Given the description of an element on the screen output the (x, y) to click on. 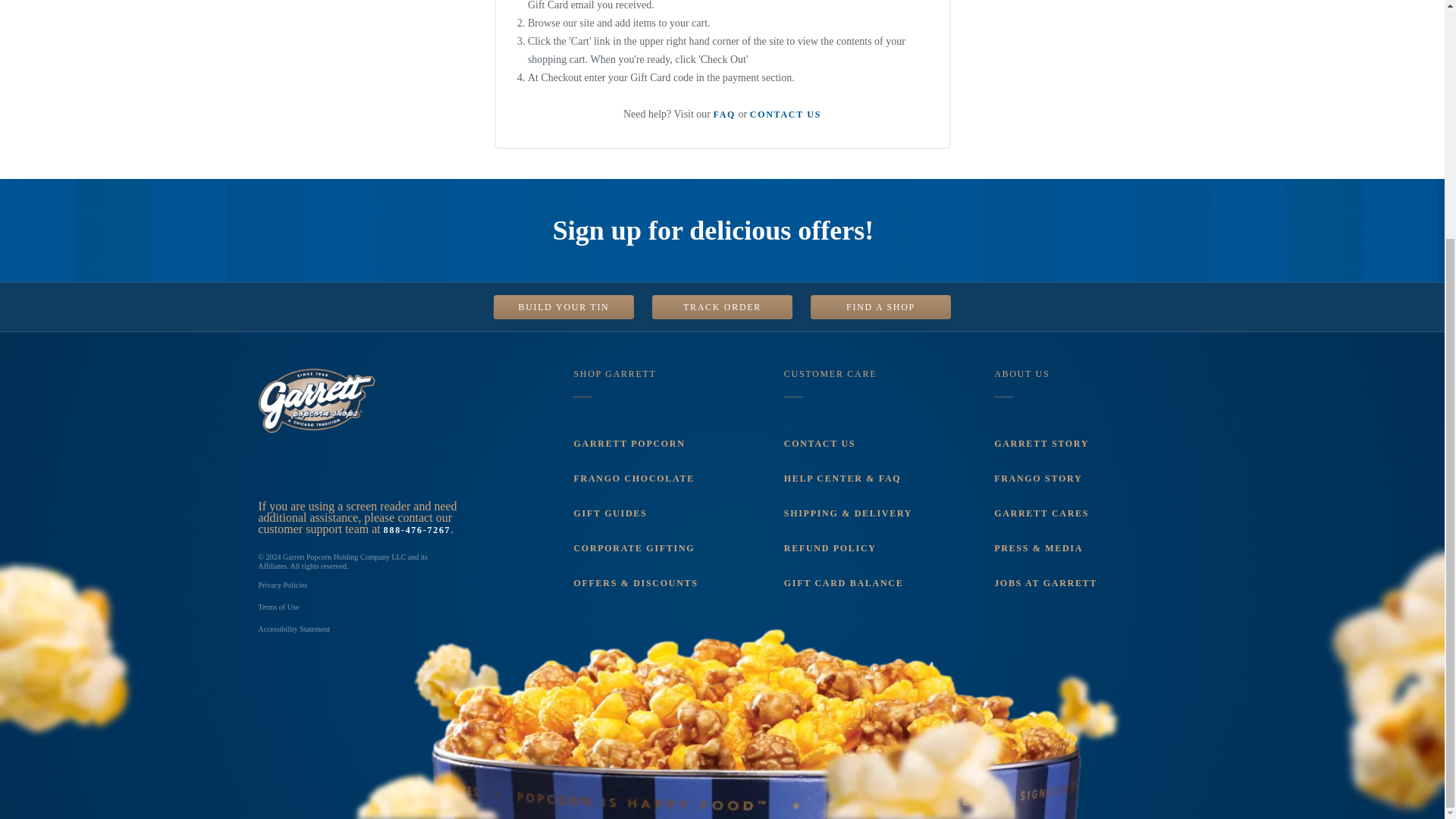
TRACK ORDER (722, 306)
Privacy Policies (282, 584)
Linkedin (423, 466)
CONTACT US (785, 113)
FIND A SHOP (880, 306)
888-476-7267 (417, 529)
FAQ (724, 113)
Youtube (384, 466)
Terms of Use (277, 606)
BUILD YOUR TIN (563, 306)
